Given the description of an element on the screen output the (x, y) to click on. 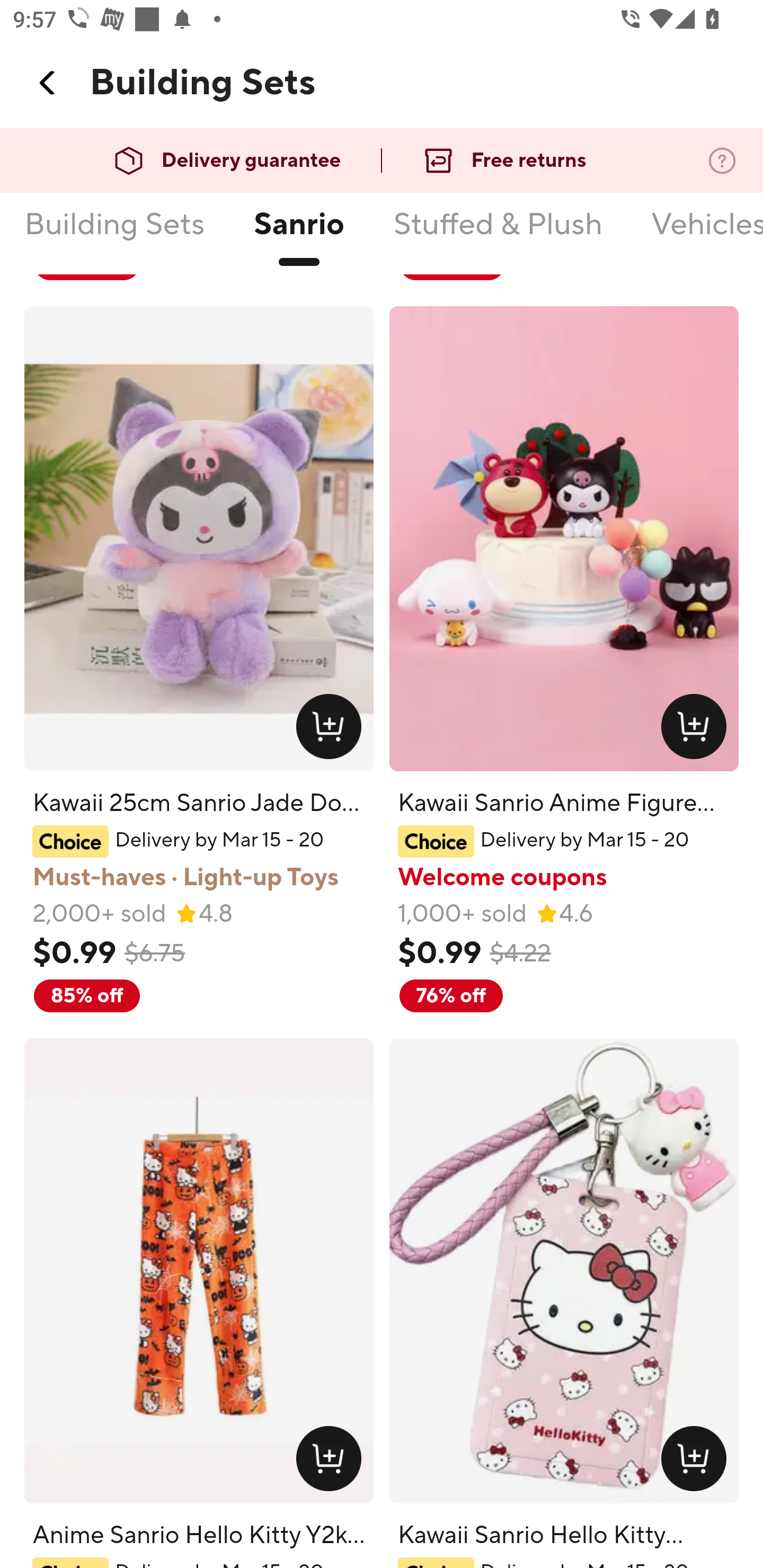
 (48, 82)
Building Sets (114, 235)
Sanrio (298, 235)
Stuffed & Plush (497, 235)
Vehicles (706, 235)
